Given the description of an element on the screen output the (x, y) to click on. 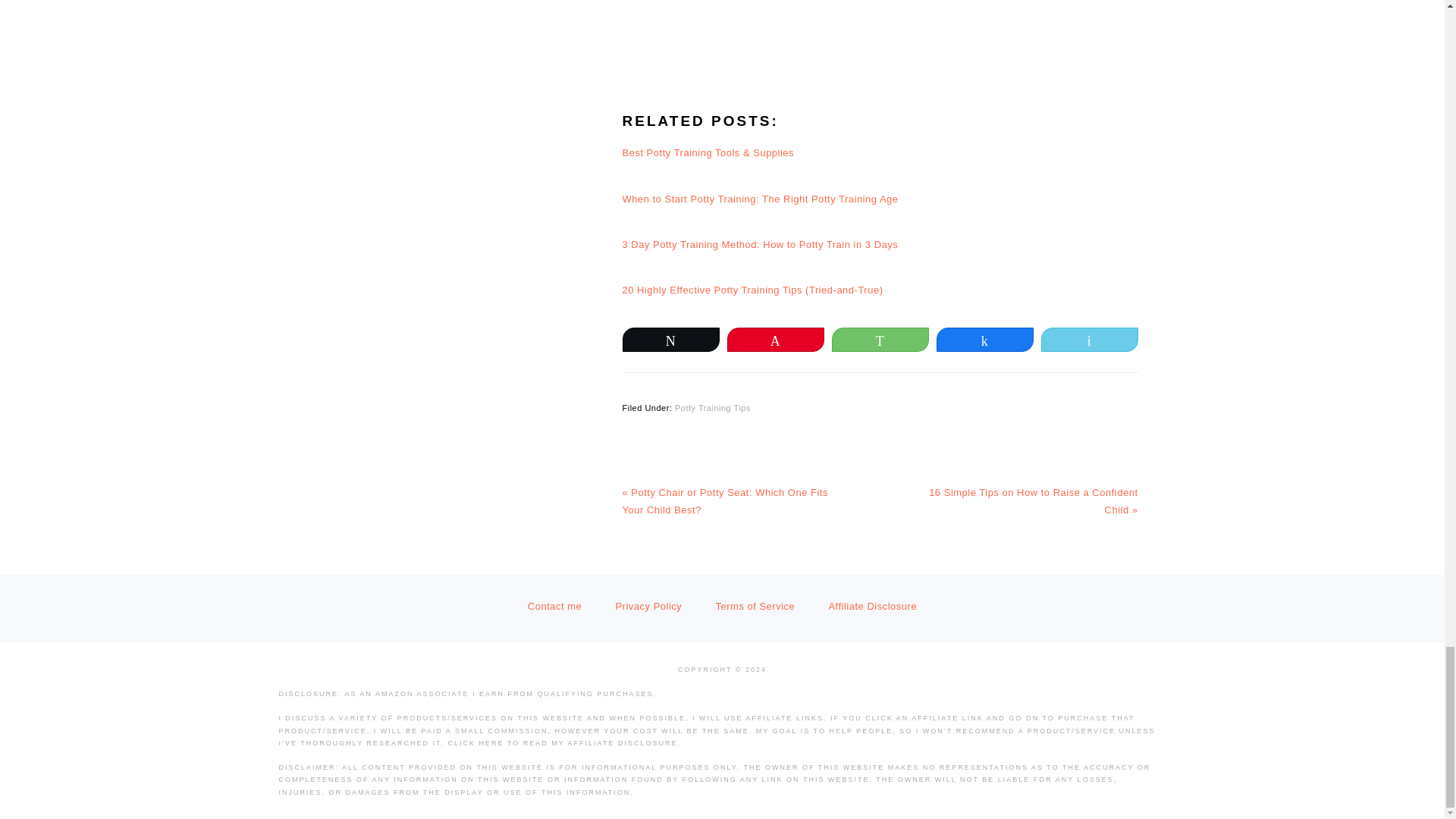
Contact me (553, 605)
CLICK HERE TO READ MY AFFILIATE DISCLOSURE. (564, 742)
Affiliate Disclosure (872, 605)
When to Start Potty Training: The Right Potty Training Age (759, 198)
3 Day Potty Training Method: How to Potty Train in 3 Days (759, 244)
Terms of Service (755, 605)
Privacy Policy (647, 605)
Potty Training Tips (713, 407)
